Given the description of an element on the screen output the (x, y) to click on. 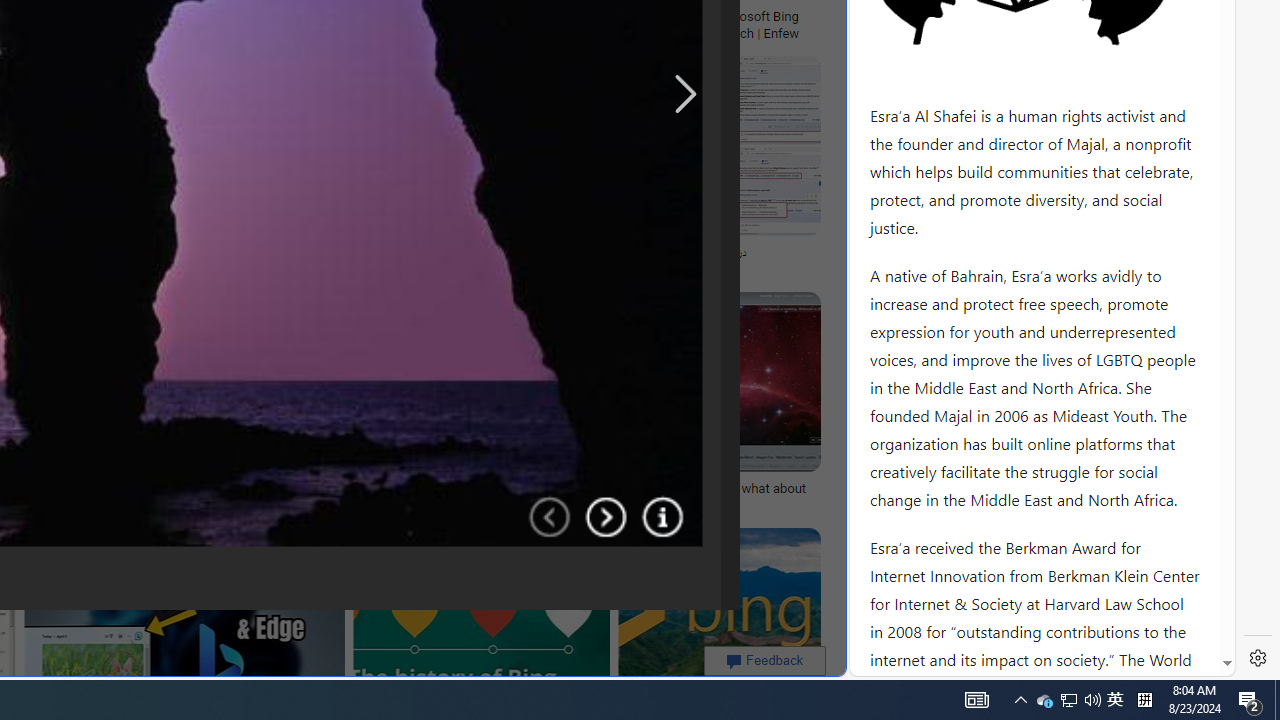
Global web icon (888, 663)
Bing (2009) (RARE/FAKE) - YouTube (345, 253)
google_privacy_policy_zh-CN.pdf (687, 482)
Remove the 'News & Interests' bar from Bing | TechLife (228, 16)
